Given the description of an element on the screen output the (x, y) to click on. 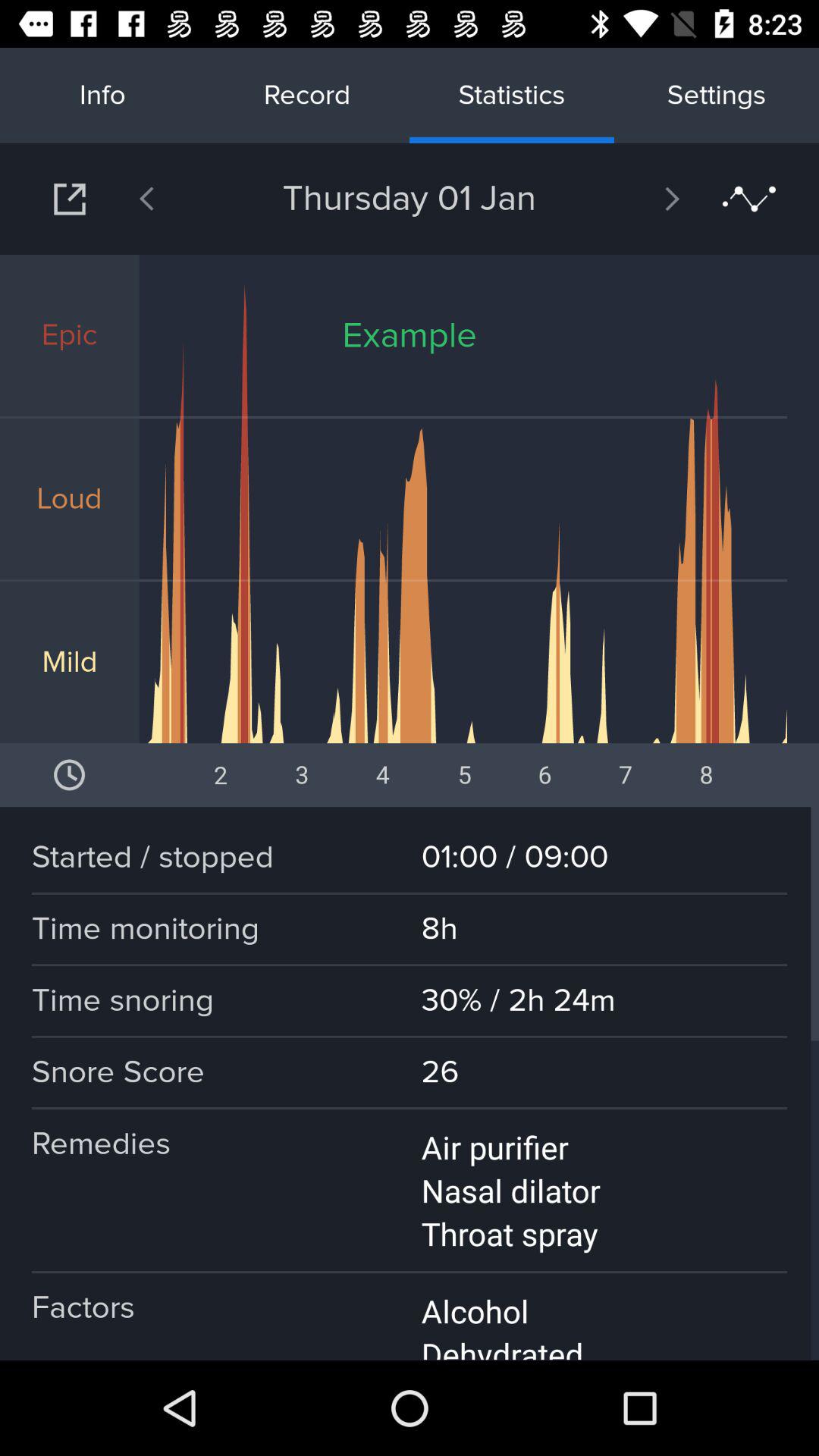
go to previous date (186, 198)
